Given the description of an element on the screen output the (x, y) to click on. 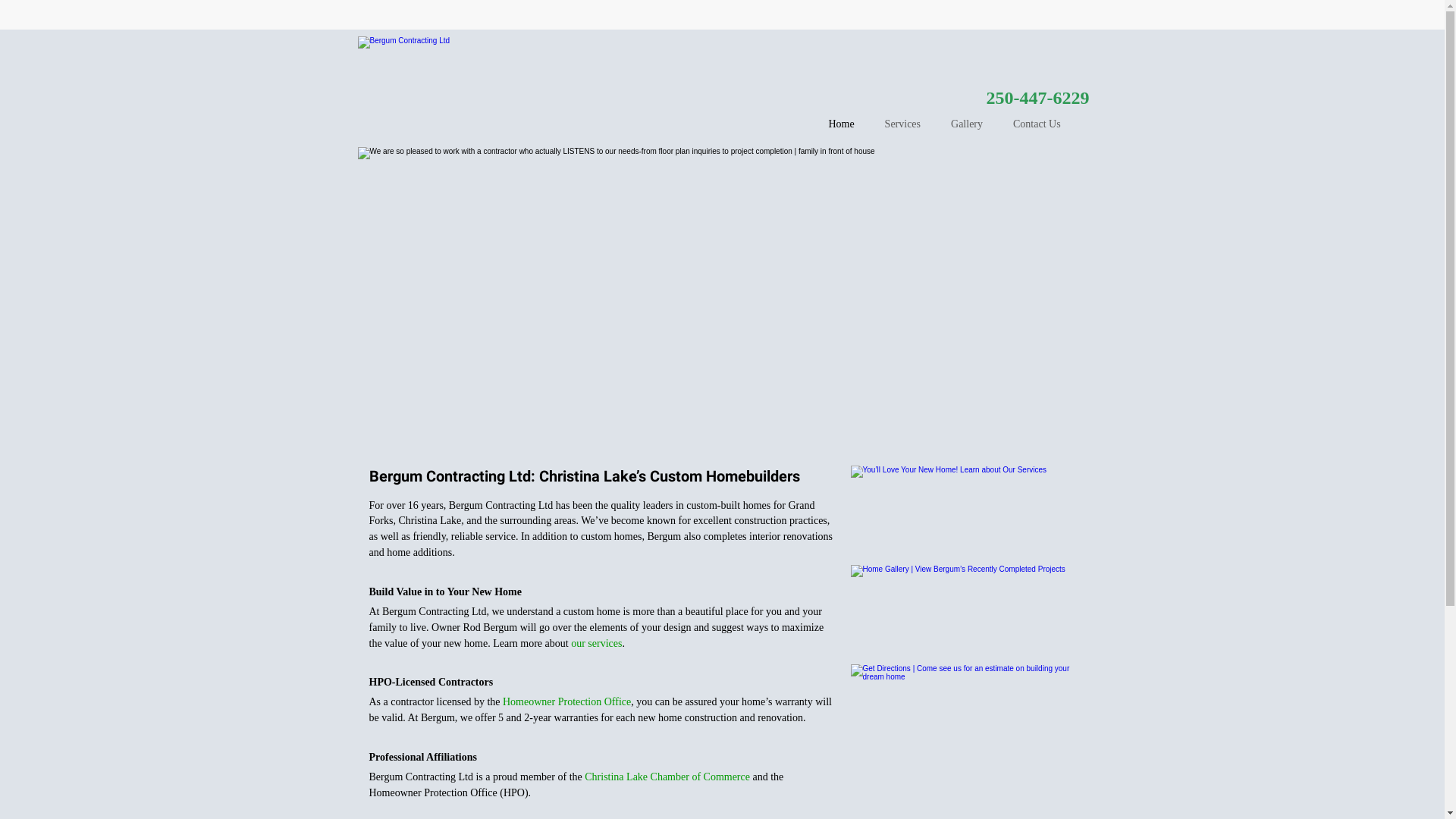
Services Element type: text (902, 123)
Gallery Element type: text (966, 123)
our services Element type: text (595, 643)
250-447-6229 Element type: text (1037, 101)
Contact Us Element type: text (1036, 123)
Embedded Content Element type: hover (1069, 19)
Christina Lake Chamber of Commerce Element type: text (665, 776)
Home Element type: text (840, 123)
Homeowner Protection Office Element type: text (565, 701)
Embedded Content Element type: hover (943, 22)
